Given the description of an element on the screen output the (x, y) to click on. 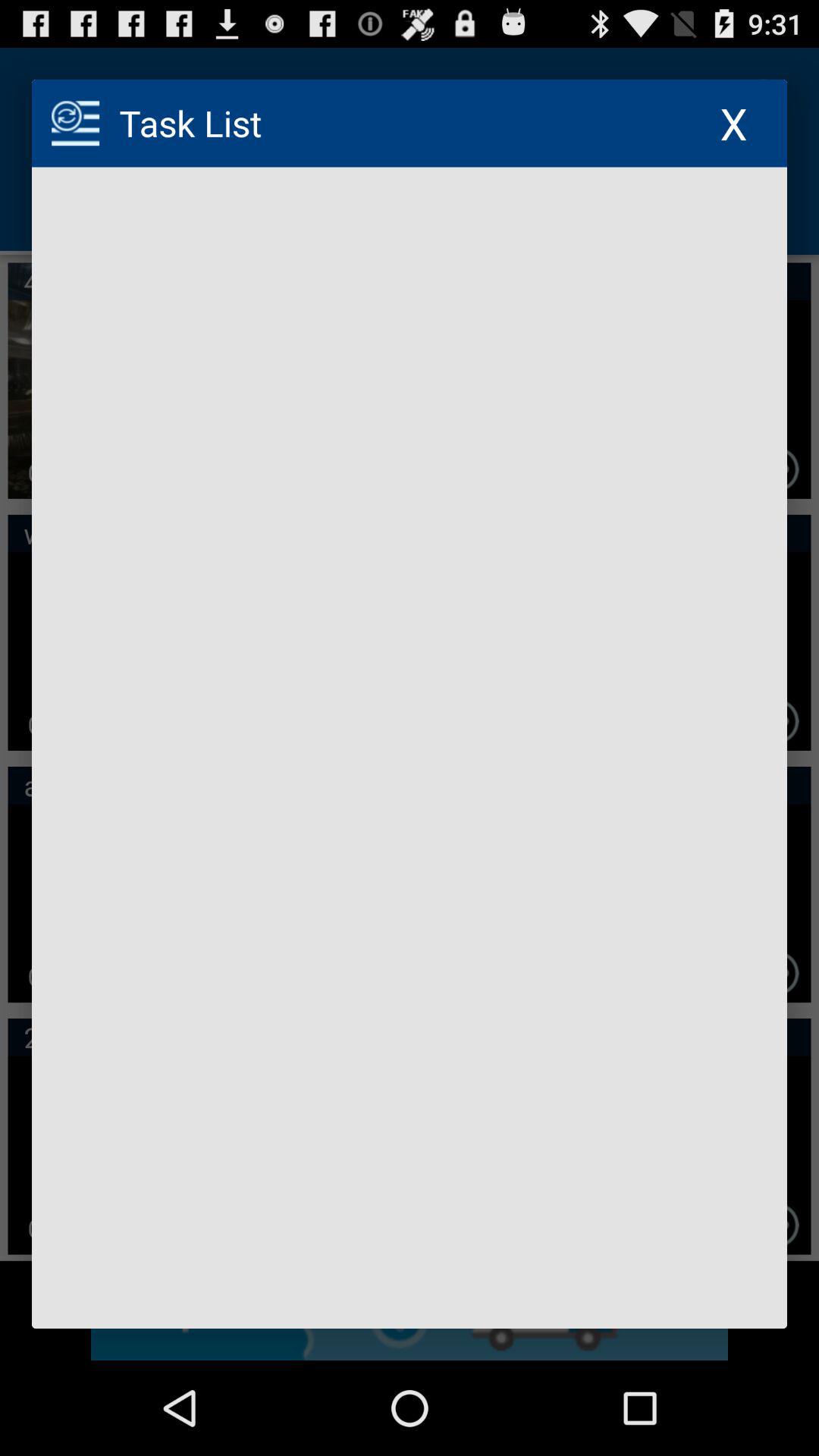
blank page (409, 747)
